Given the description of an element on the screen output the (x, y) to click on. 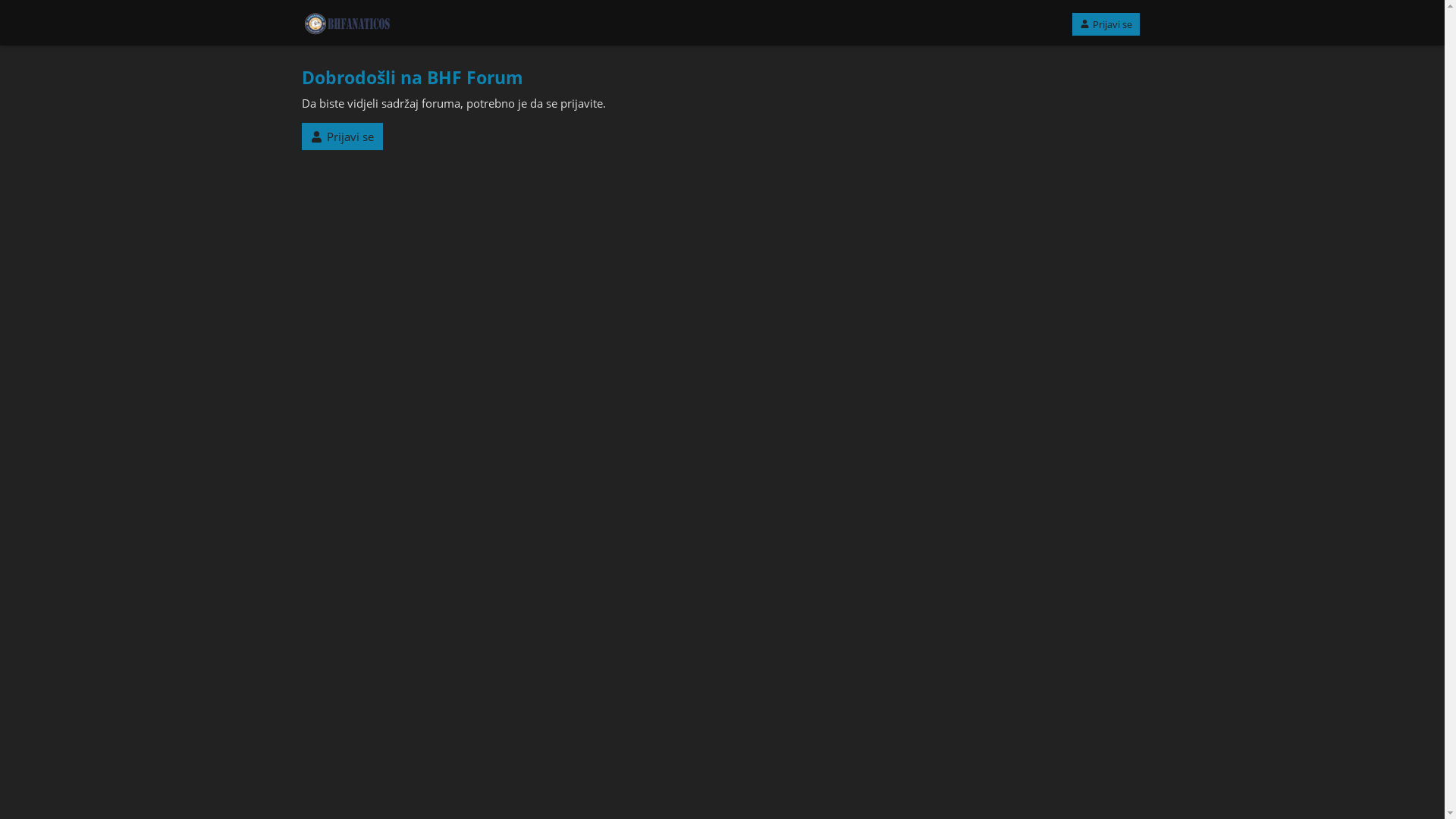
Prijavi se Element type: text (342, 136)
Prijavi se Element type: text (1105, 23)
